Given the description of an element on the screen output the (x, y) to click on. 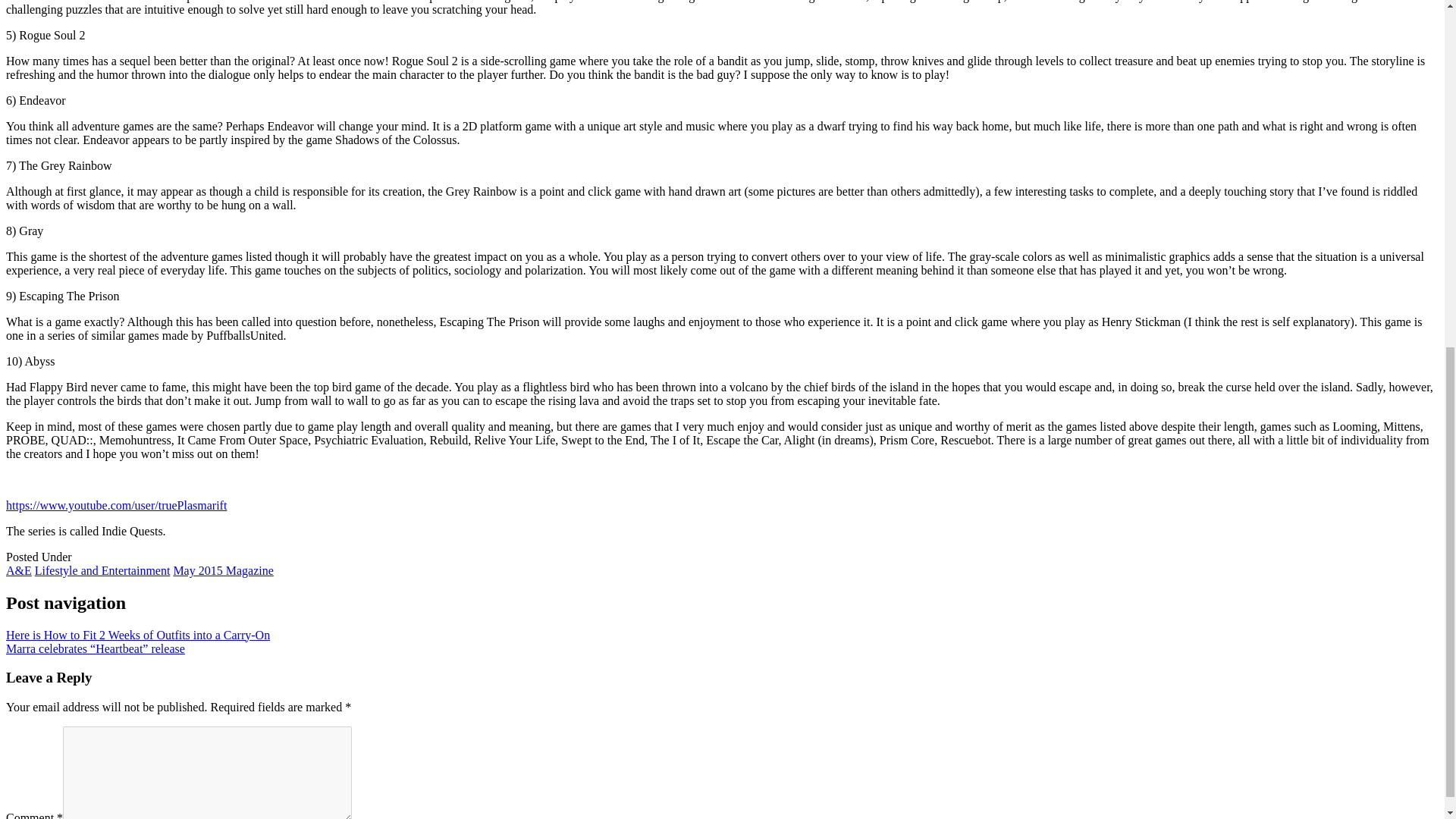
May 2015 Magazine (223, 570)
Lifestyle and Entertainment (102, 570)
Here is How to Fit 2 Weeks of Outfits into a Carry-On (137, 634)
